Given the description of an element on the screen output the (x, y) to click on. 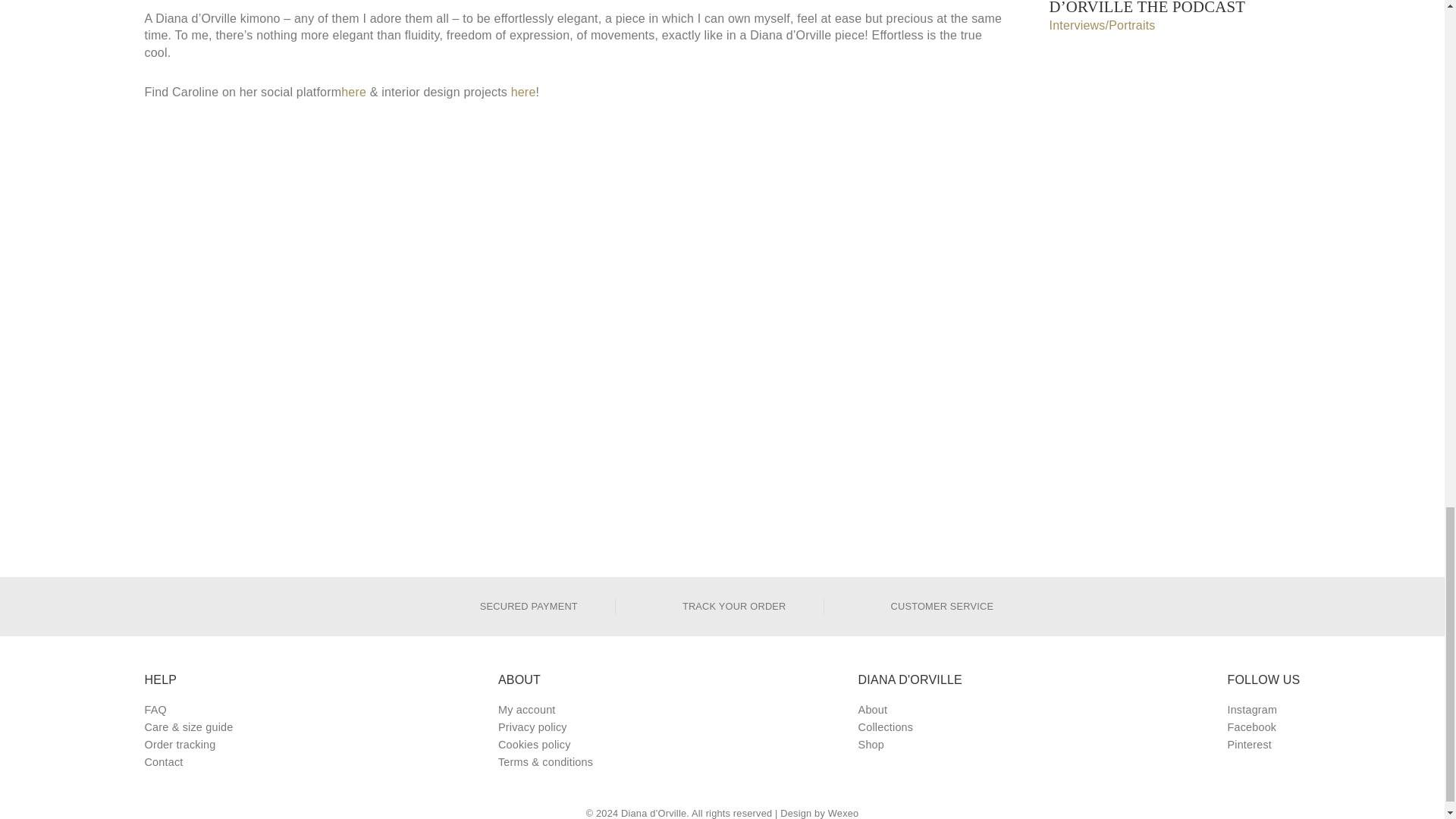
Shop (910, 744)
Privacy policy (544, 727)
Pinterest (1263, 744)
Contact (188, 762)
Cookies policy (544, 744)
Instagram (1263, 710)
here (353, 92)
Collections (910, 727)
FAQ (188, 710)
Pinterest (1263, 744)
